Given the description of an element on the screen output the (x, y) to click on. 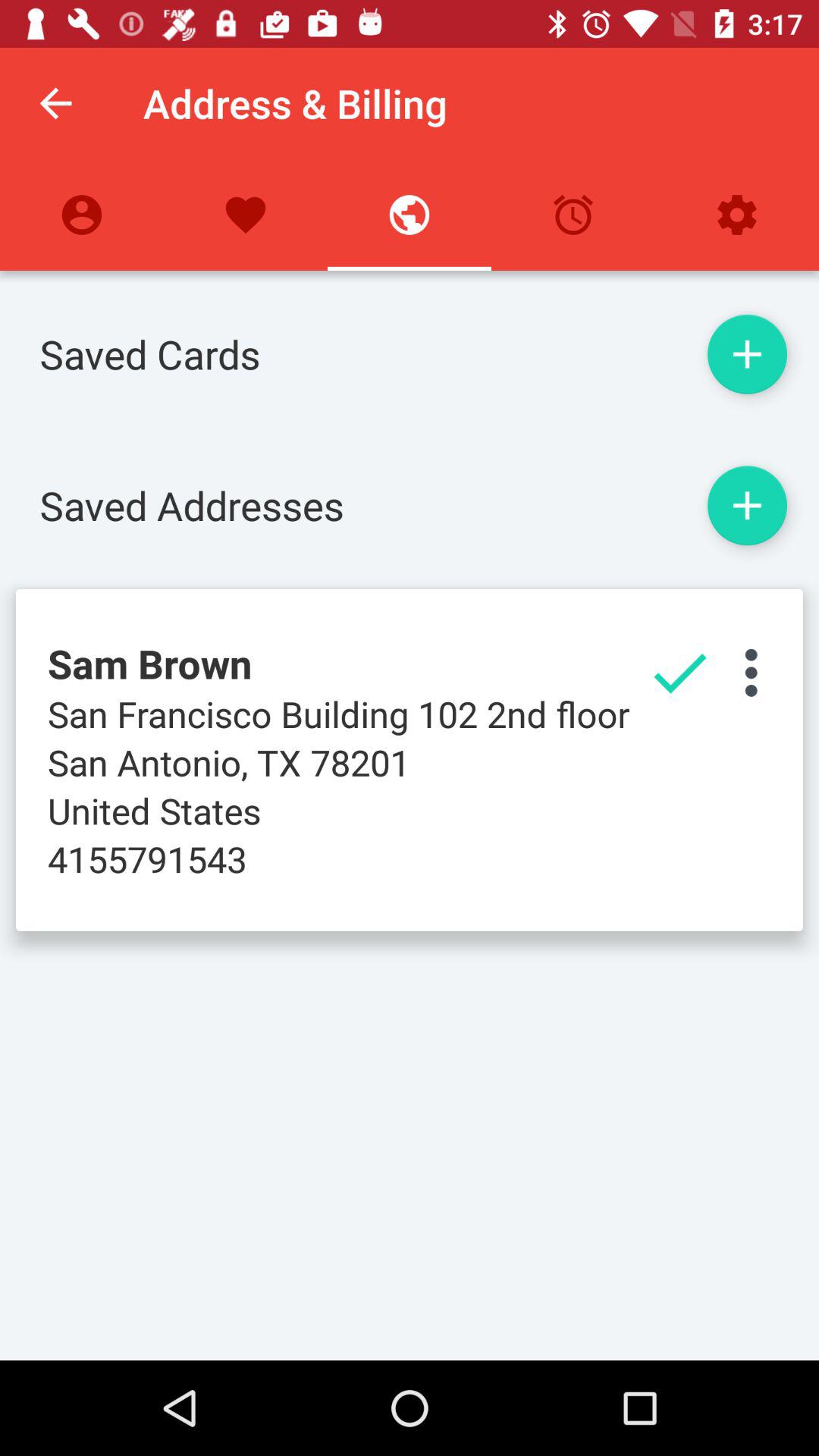
add payment method (747, 353)
